Given the description of an element on the screen output the (x, y) to click on. 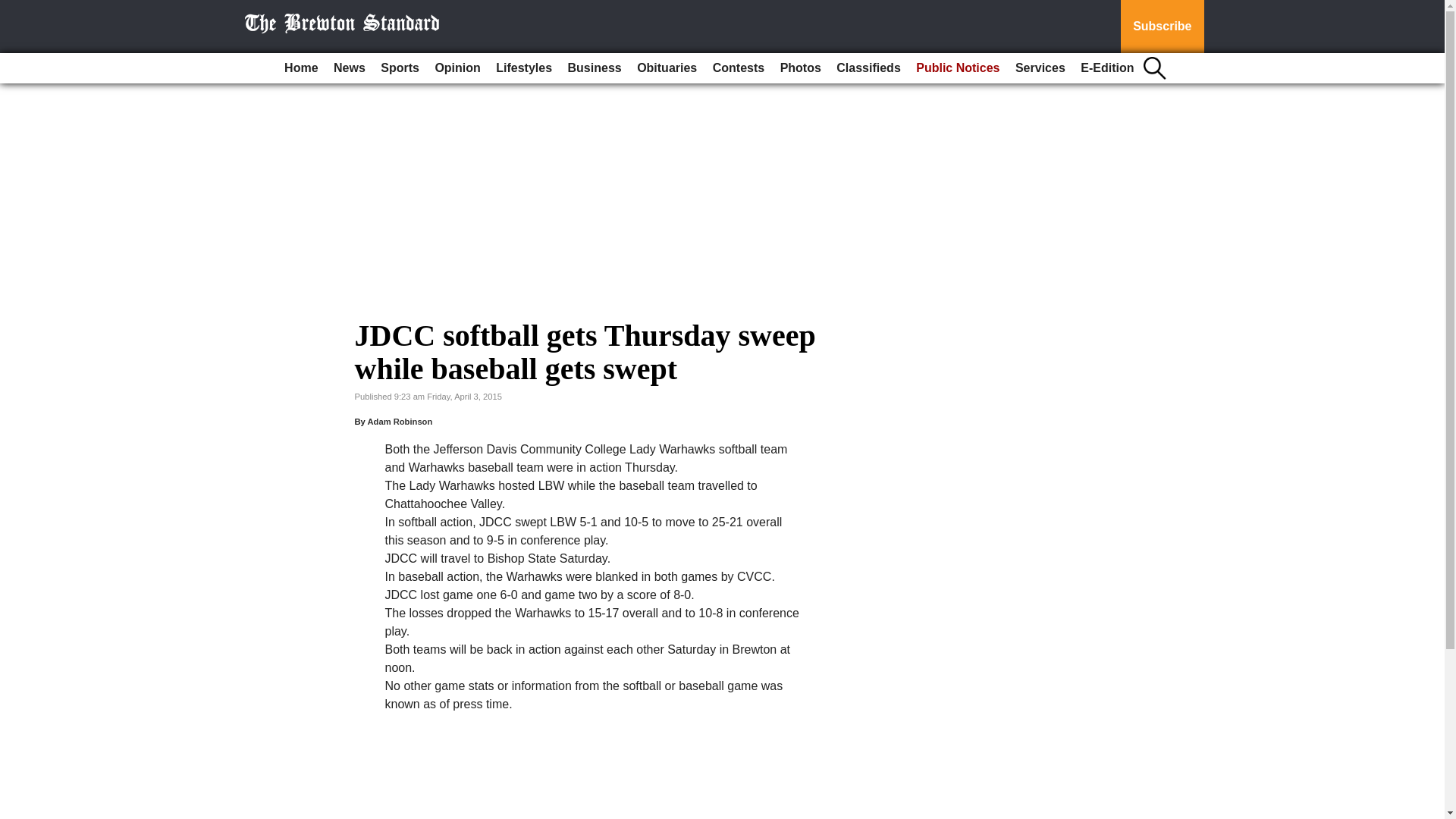
Adam Robinson (399, 420)
News (349, 68)
Business (594, 68)
Obituaries (666, 68)
E-Edition (1107, 68)
Opinion (457, 68)
Classifieds (867, 68)
Services (1040, 68)
Contests (738, 68)
Go (13, 9)
